Given the description of an element on the screen output the (x, y) to click on. 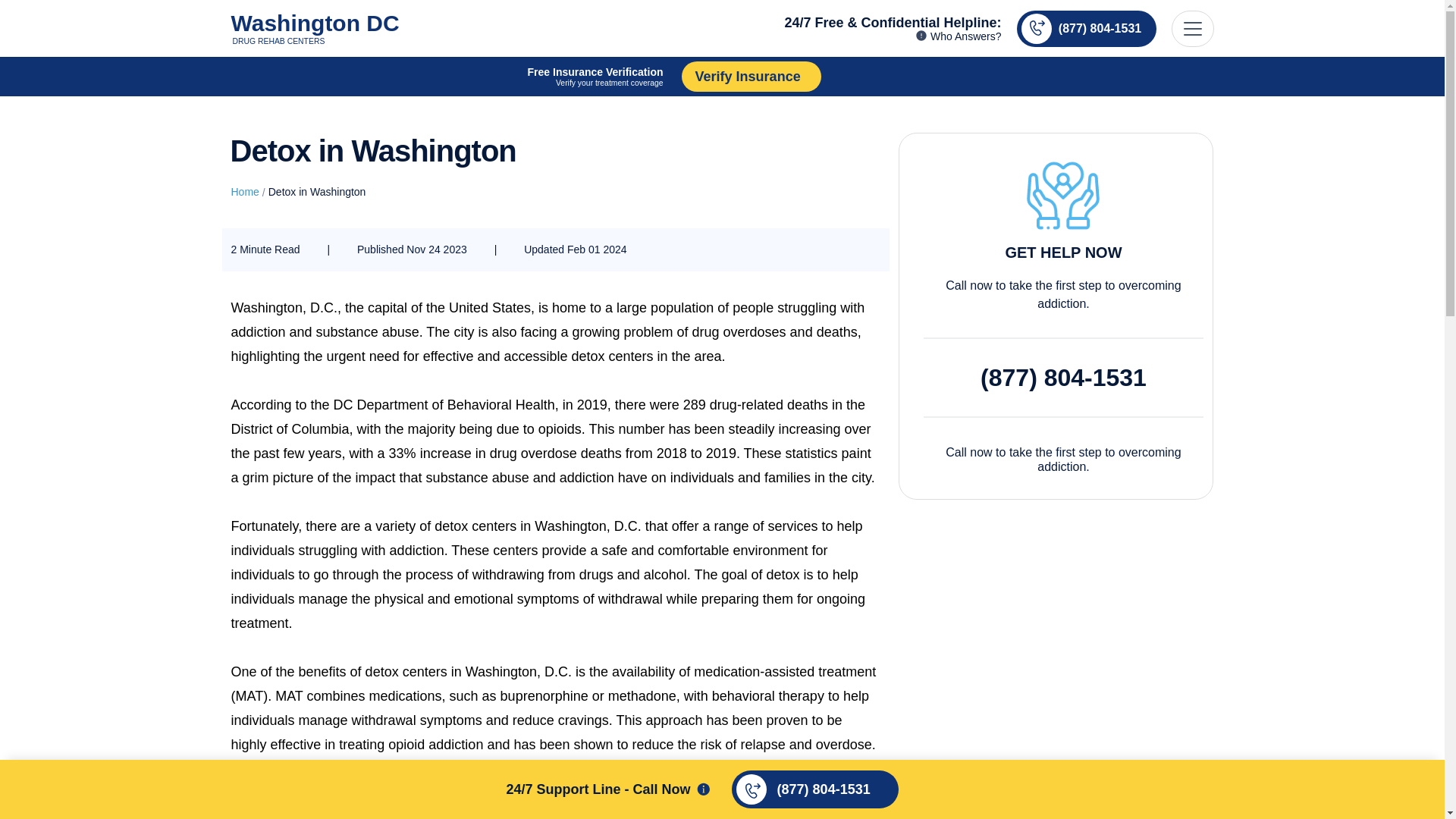
Washington DC (314, 27)
Verify Insurance (946, 76)
Verify Insurance (946, 76)
Home (314, 27)
Get help now (244, 192)
